Given the description of an element on the screen output the (x, y) to click on. 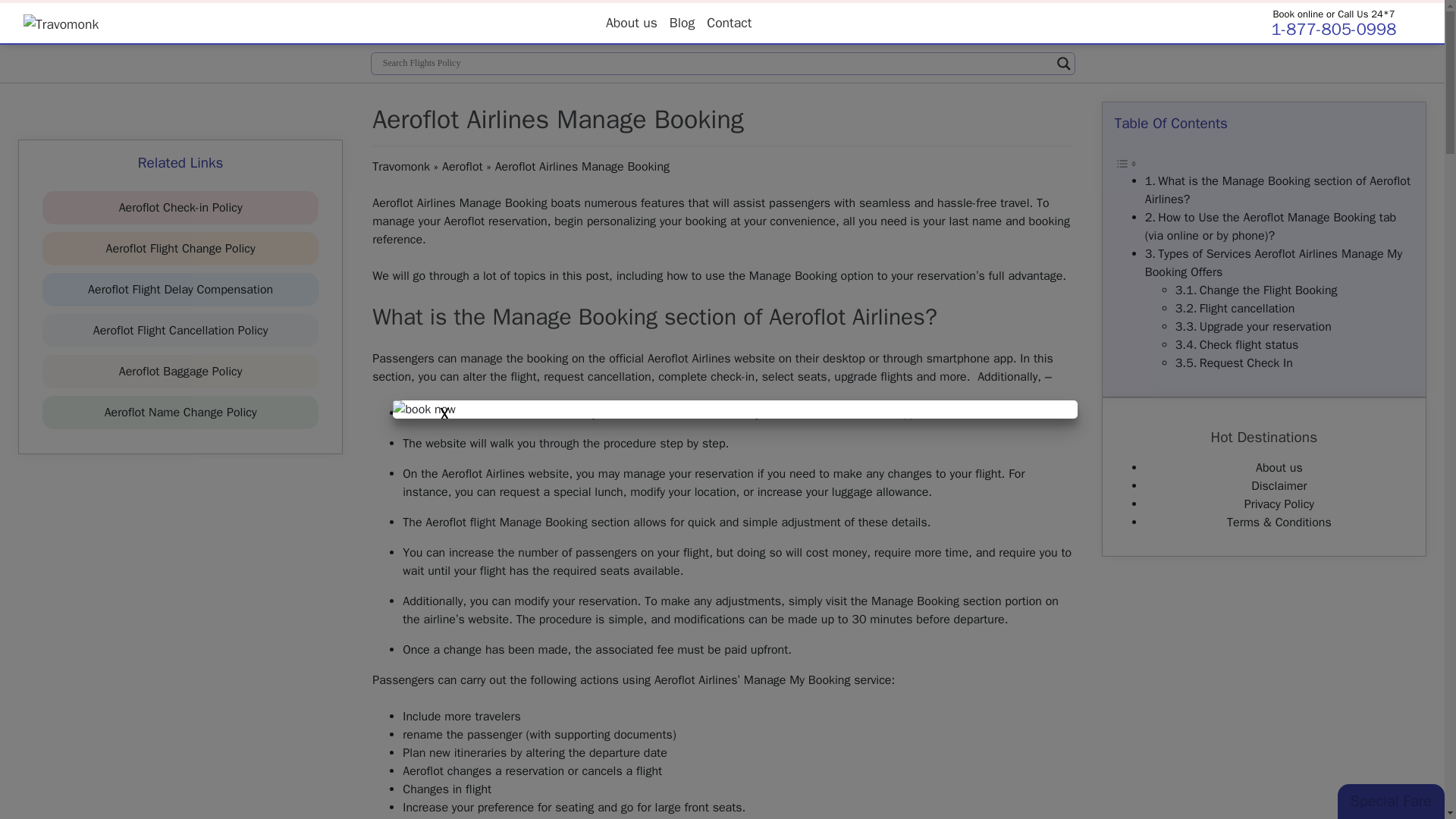
Aeroflot Flight Cancellation Policy (180, 330)
Aeroflot (462, 166)
Aeroflot Baggage Policy (181, 371)
About us (631, 22)
About us (631, 22)
Contact (728, 22)
Aeroflot Flight Delay Compensation (180, 289)
Aeroflot Check-in Policy (181, 207)
Aeroflot Flight Change Policy (181, 248)
1-877-805-0998 (1333, 29)
